Given the description of an element on the screen output the (x, y) to click on. 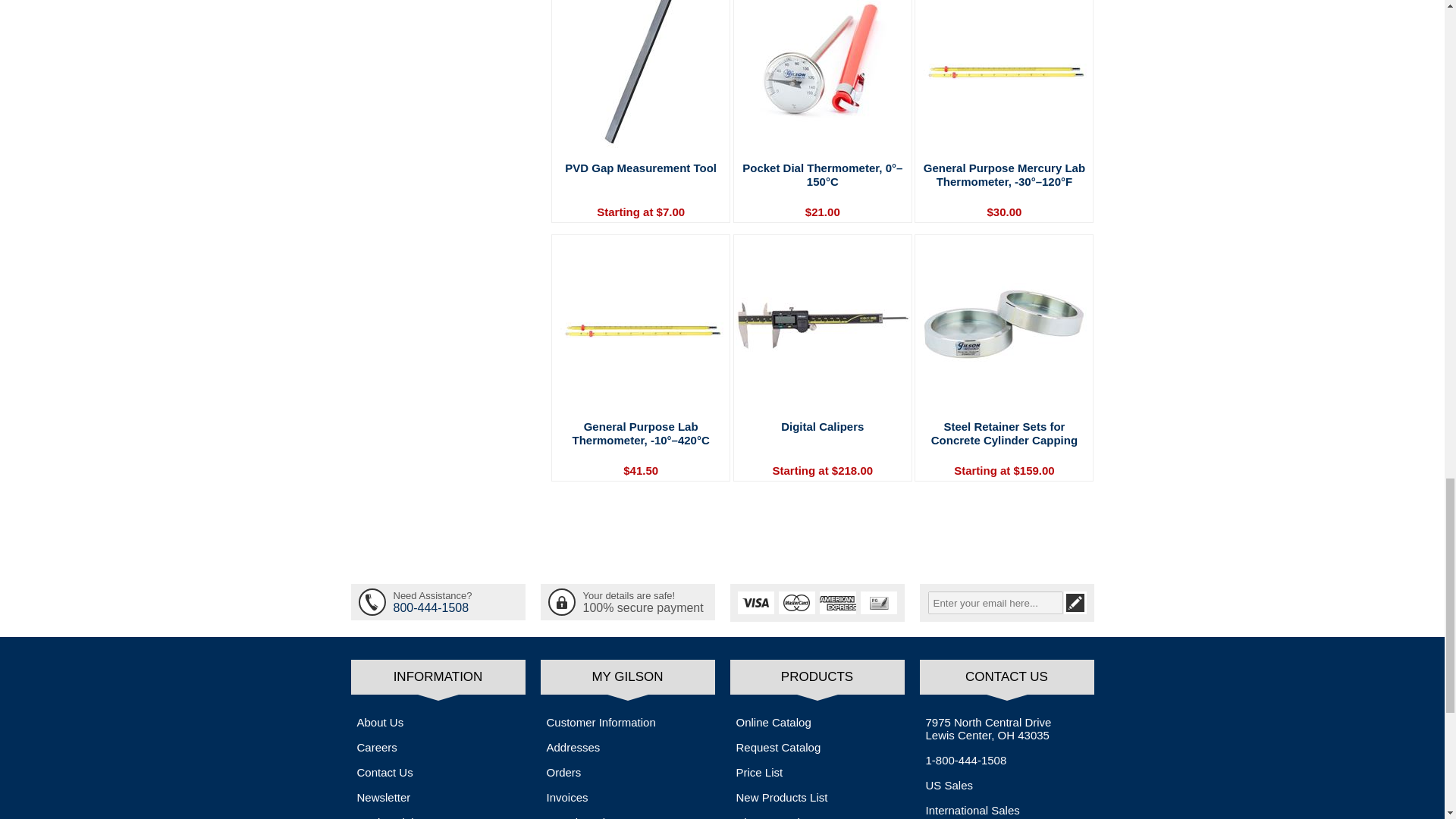
Send (1074, 602)
